Given the description of an element on the screen output the (x, y) to click on. 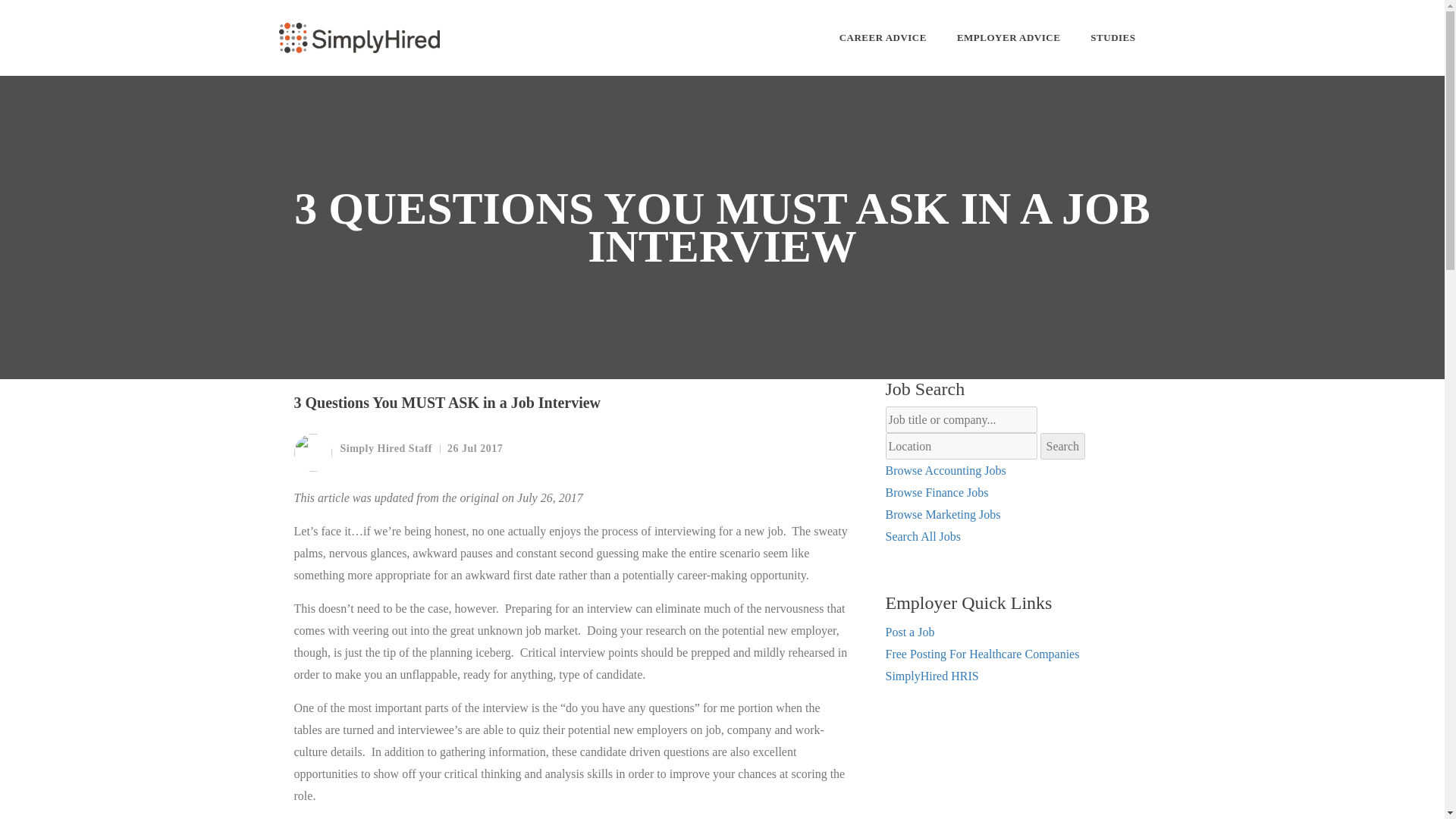
Search (1063, 446)
Search (1063, 446)
SimplyHired HRIS (931, 675)
Search All Jobs (922, 535)
Browse Finance Jobs (936, 492)
Post a Job (909, 631)
EMPLOYER ADVICE (1007, 38)
CAREER ADVICE (883, 38)
Simply Hired Staff (363, 452)
Browse Accounting Jobs (945, 470)
